Given the description of an element on the screen output the (x, y) to click on. 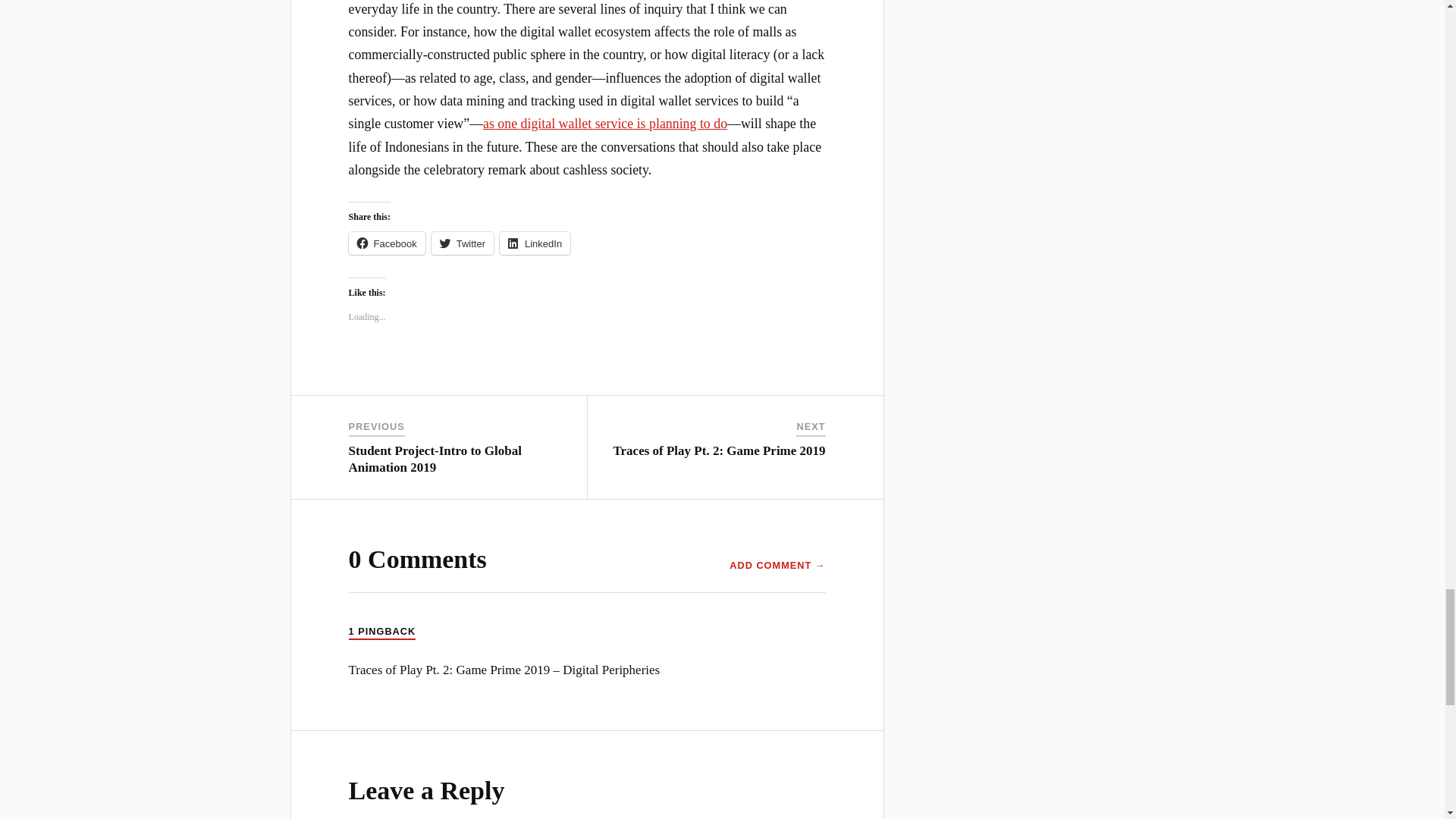
Click to share on Twitter (461, 242)
LinkedIn (534, 242)
Facebook (387, 242)
Traces of Play Pt. 2: Game Prime 2019 (718, 450)
Student Project-Intro to Global Animation 2019 (435, 459)
Twitter (461, 242)
Click to share on Facebook (387, 242)
as one digital wallet service is planning to do (604, 123)
Click to share on LinkedIn (534, 242)
